Given the description of an element on the screen output the (x, y) to click on. 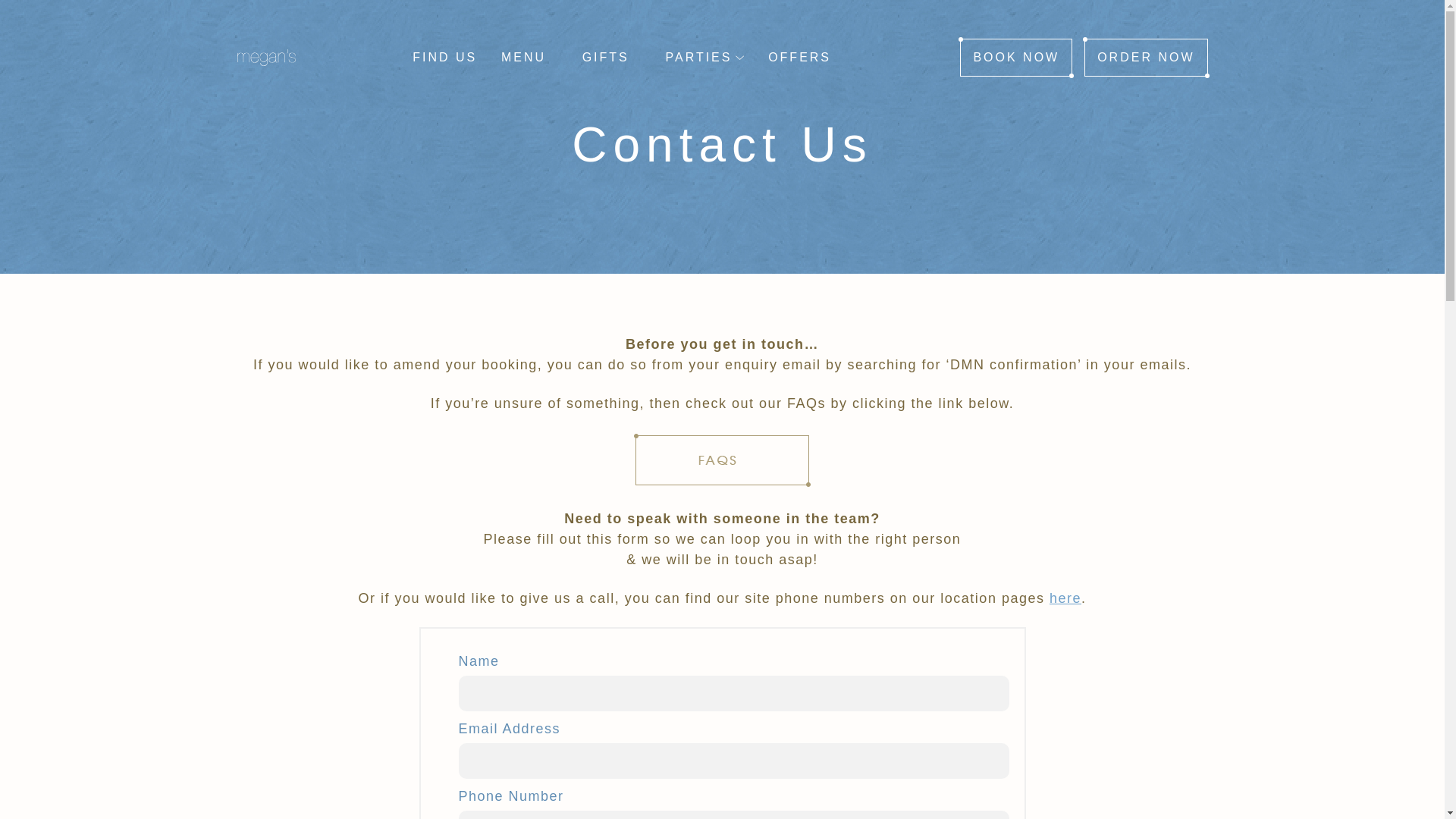
FIND US (444, 57)
OFFERS (799, 57)
MENU (523, 57)
ORDER NOW (1145, 57)
here (1065, 598)
PARTIES (697, 57)
BOOK NOW (1015, 57)
GIFTS (606, 57)
